Given the description of an element on the screen output the (x, y) to click on. 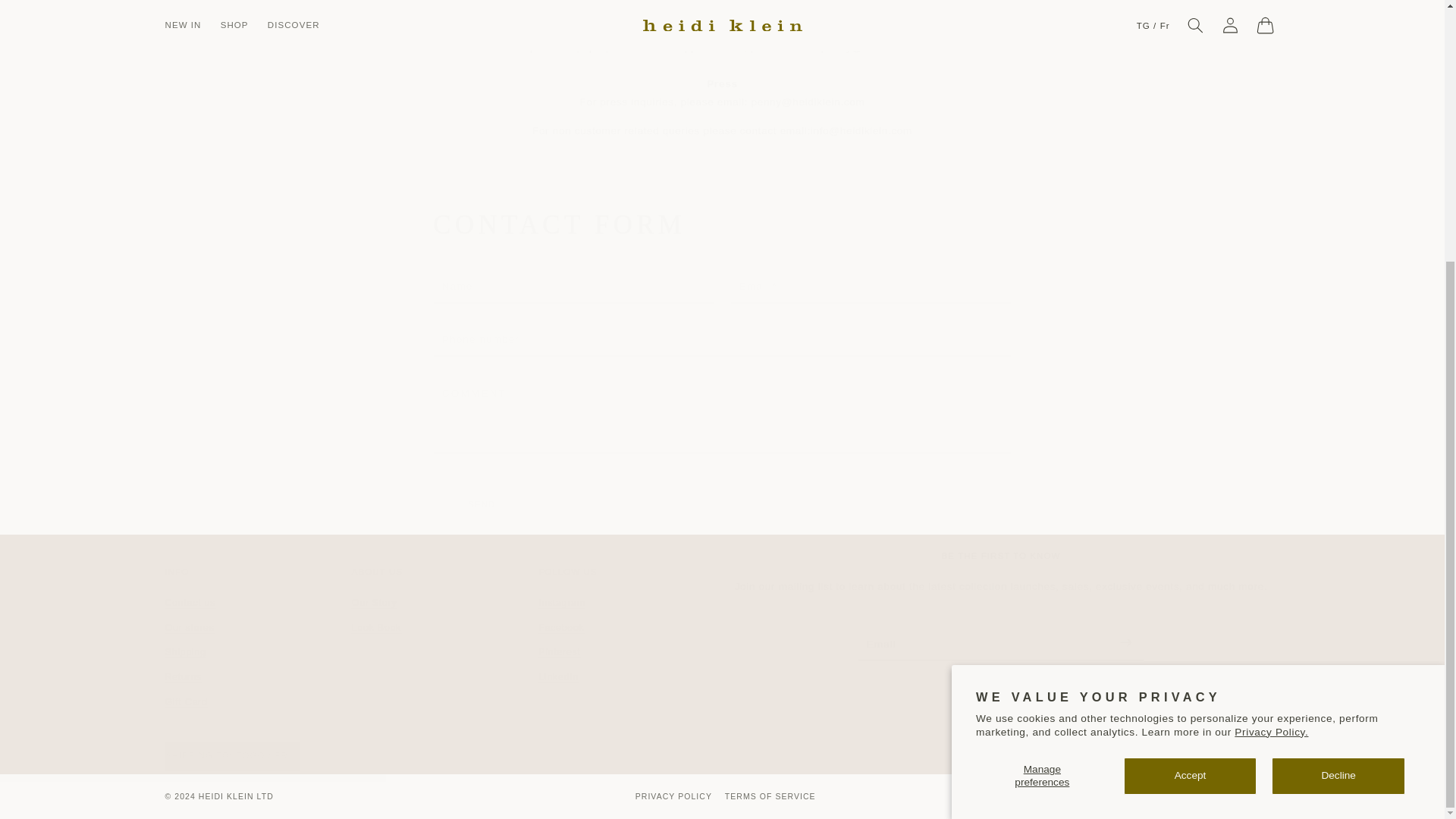
Accept (1190, 401)
Decline (257, 640)
Privacy Policy. (1338, 401)
Manage preferences (630, 640)
CONTACT FORM (443, 640)
